Given the description of an element on the screen output the (x, y) to click on. 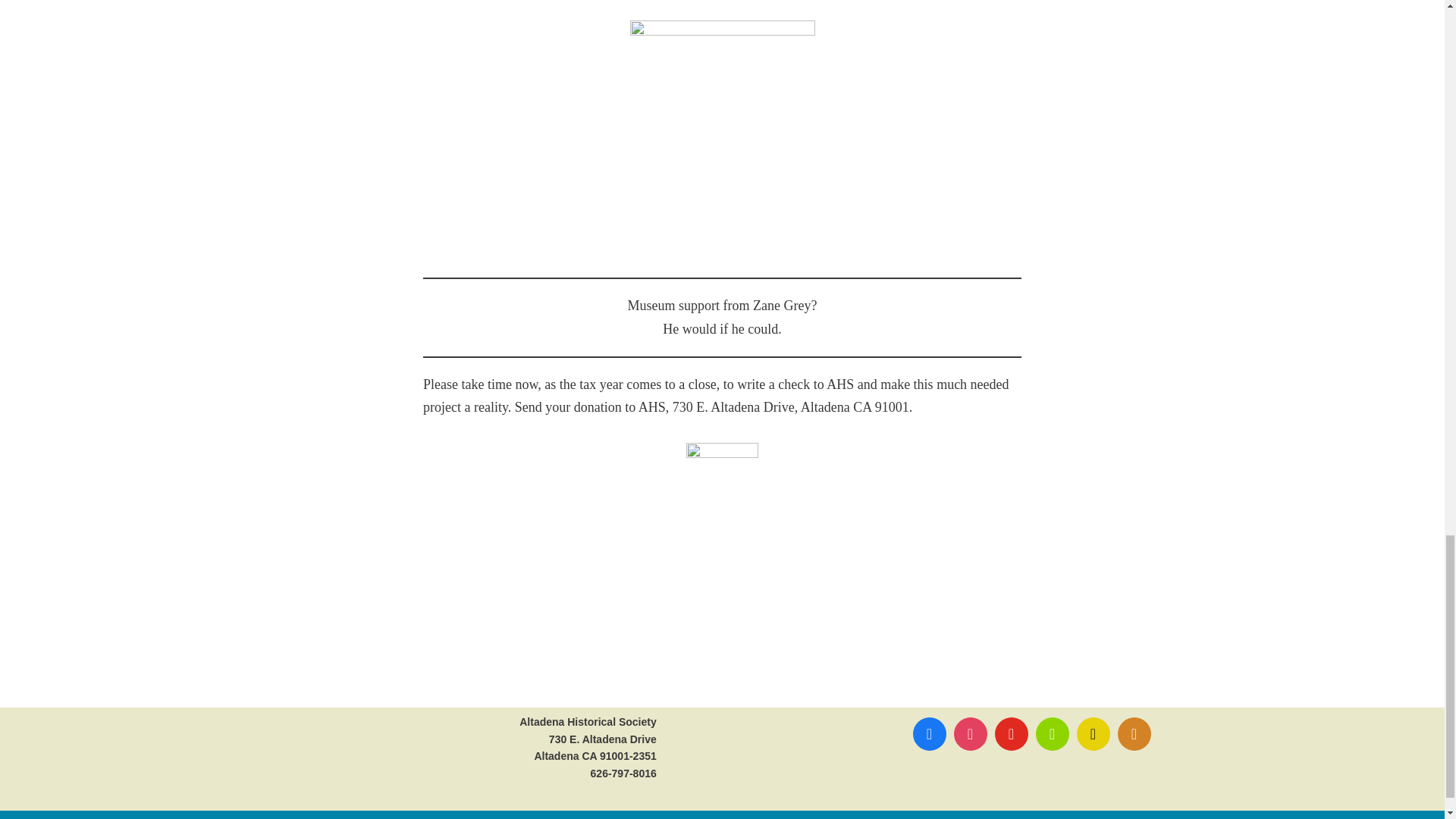
Facebook (928, 733)
Nextdoor (1050, 733)
Mailchimp (1092, 733)
Instagram (969, 733)
Youtube (1010, 733)
Mail (1133, 733)
